Given the description of an element on the screen output the (x, y) to click on. 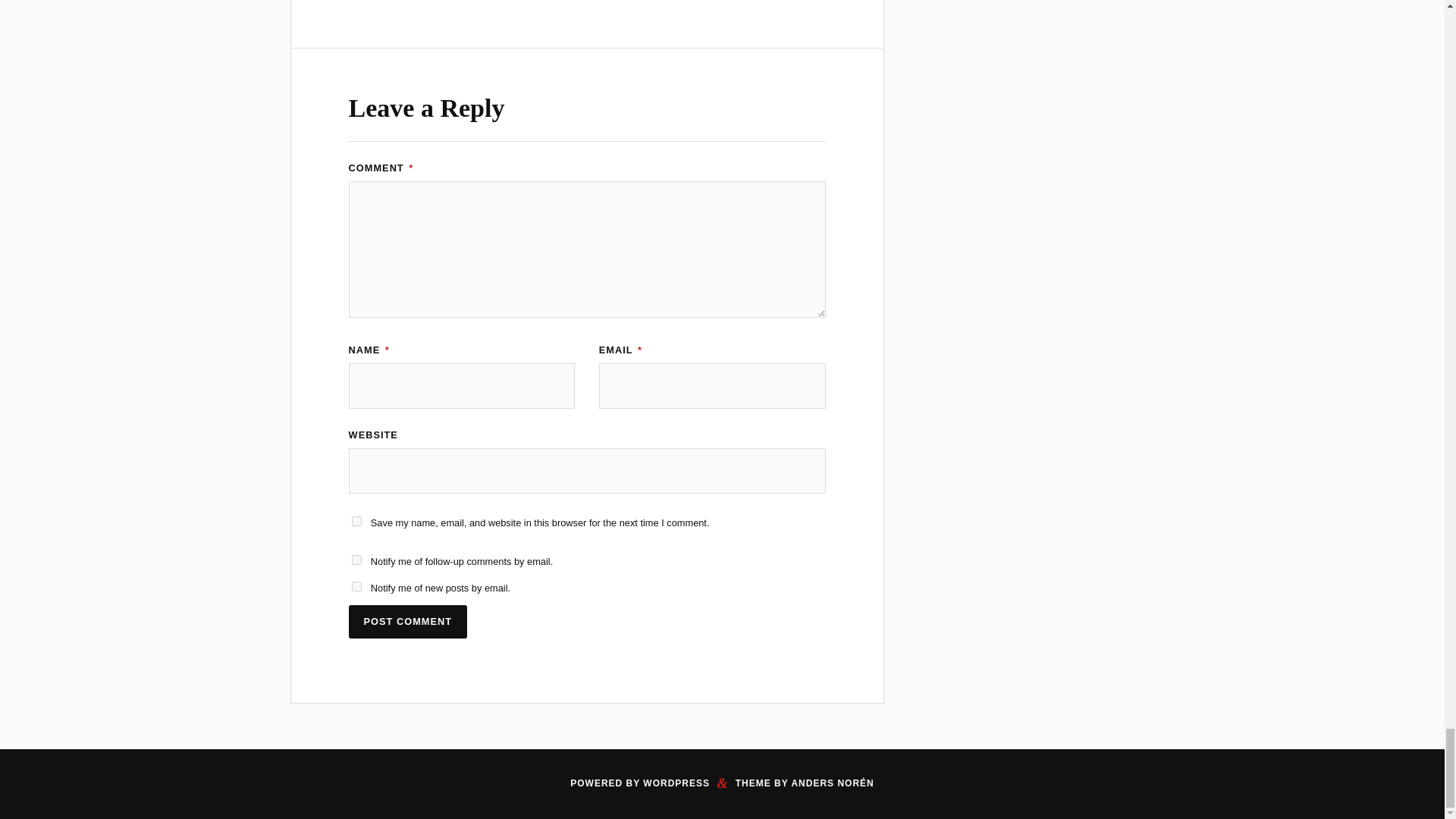
yes (356, 521)
Post Comment (408, 622)
subscribe (356, 586)
subscribe (356, 560)
